Given the description of an element on the screen output the (x, y) to click on. 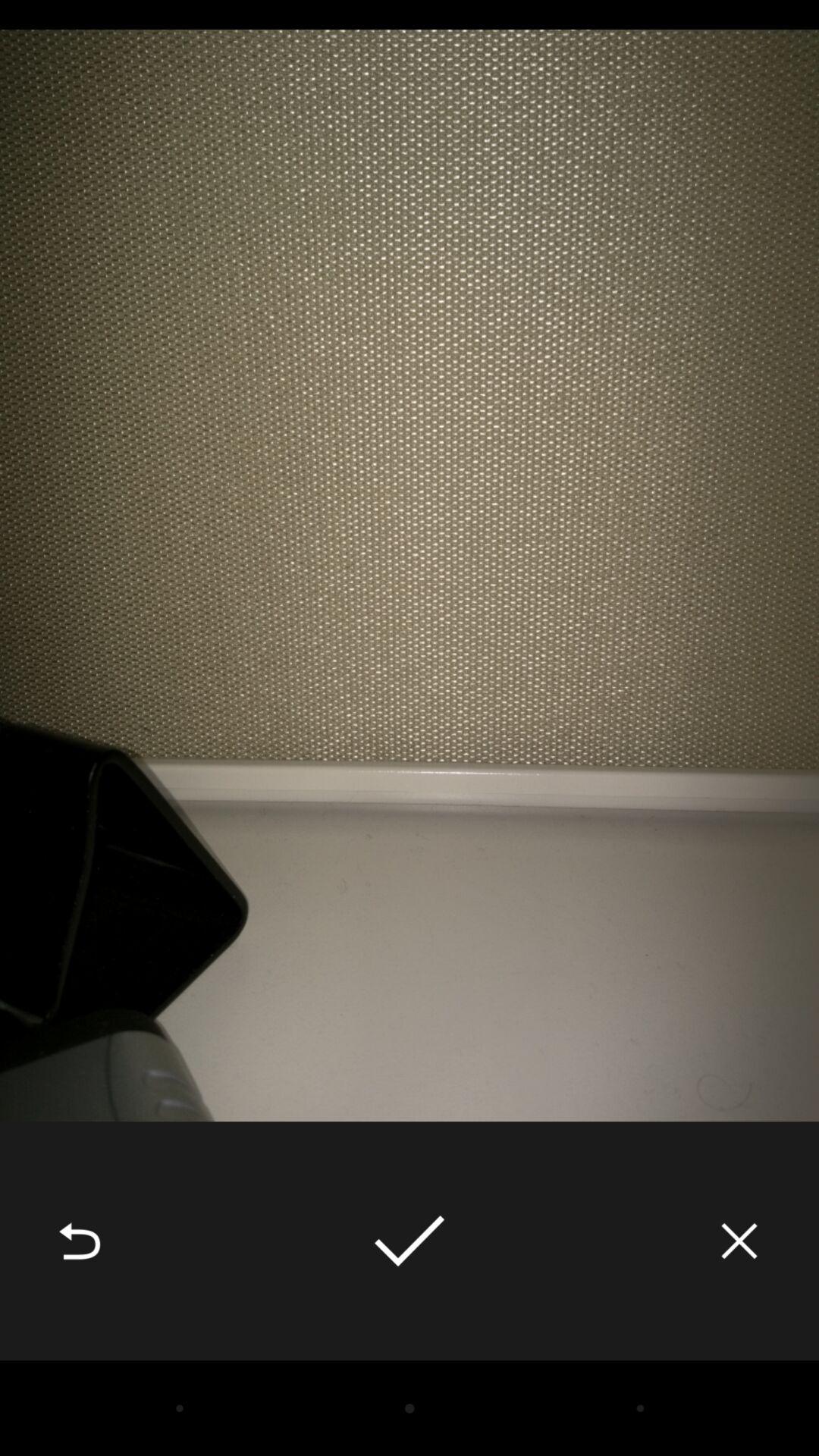
press the icon at the bottom left corner (79, 1240)
